Given the description of an element on the screen output the (x, y) to click on. 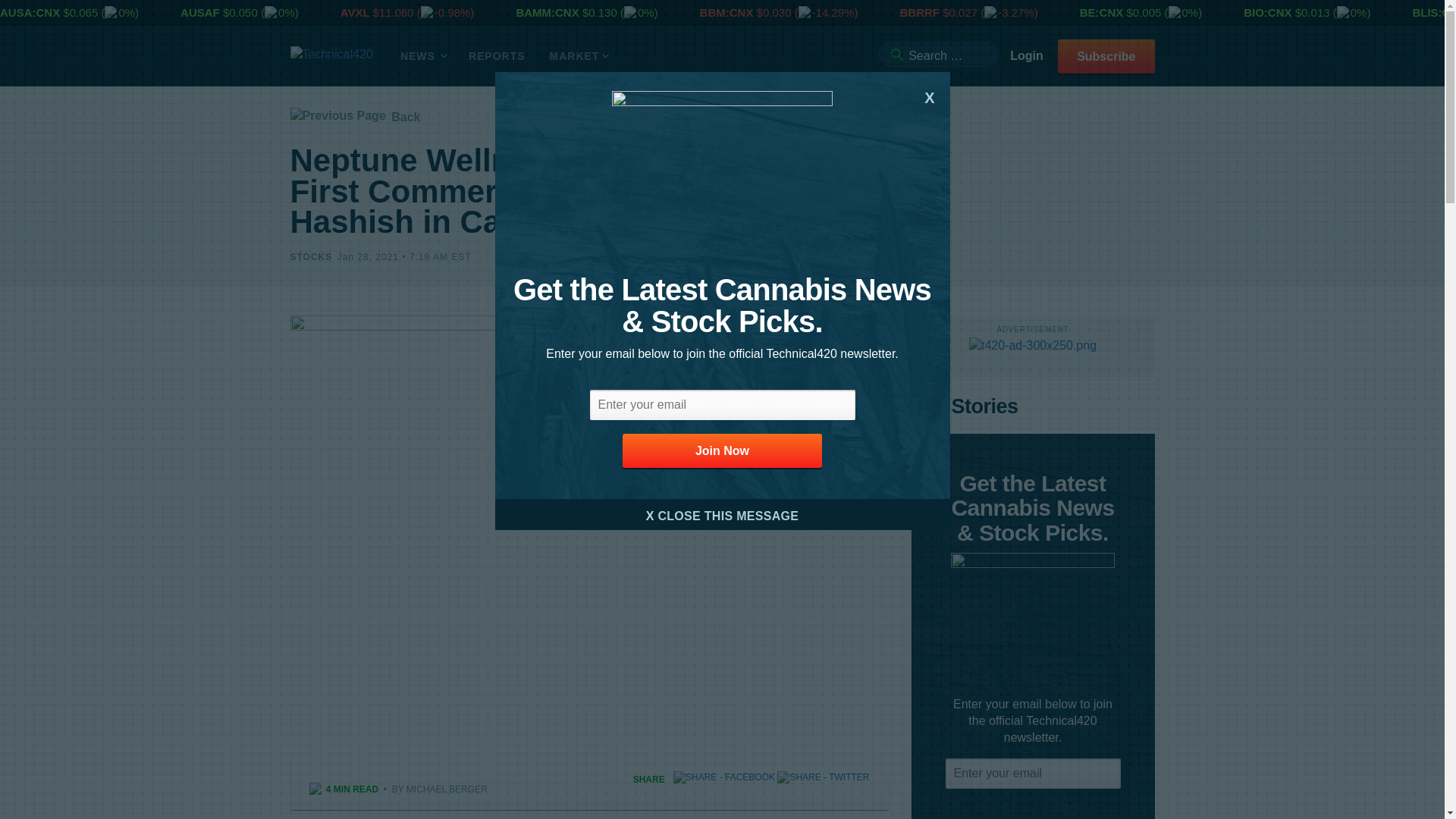
BAMM:CNX (548, 11)
AUSAF (201, 11)
Search (896, 54)
AUSA:CNX (31, 11)
AVXL (356, 11)
BIO:CNX (1269, 11)
BBRRF (921, 11)
Search (896, 54)
BE:CNX (1103, 11)
Join Now (722, 450)
BBM:CNX (728, 11)
